Given the description of an element on the screen output the (x, y) to click on. 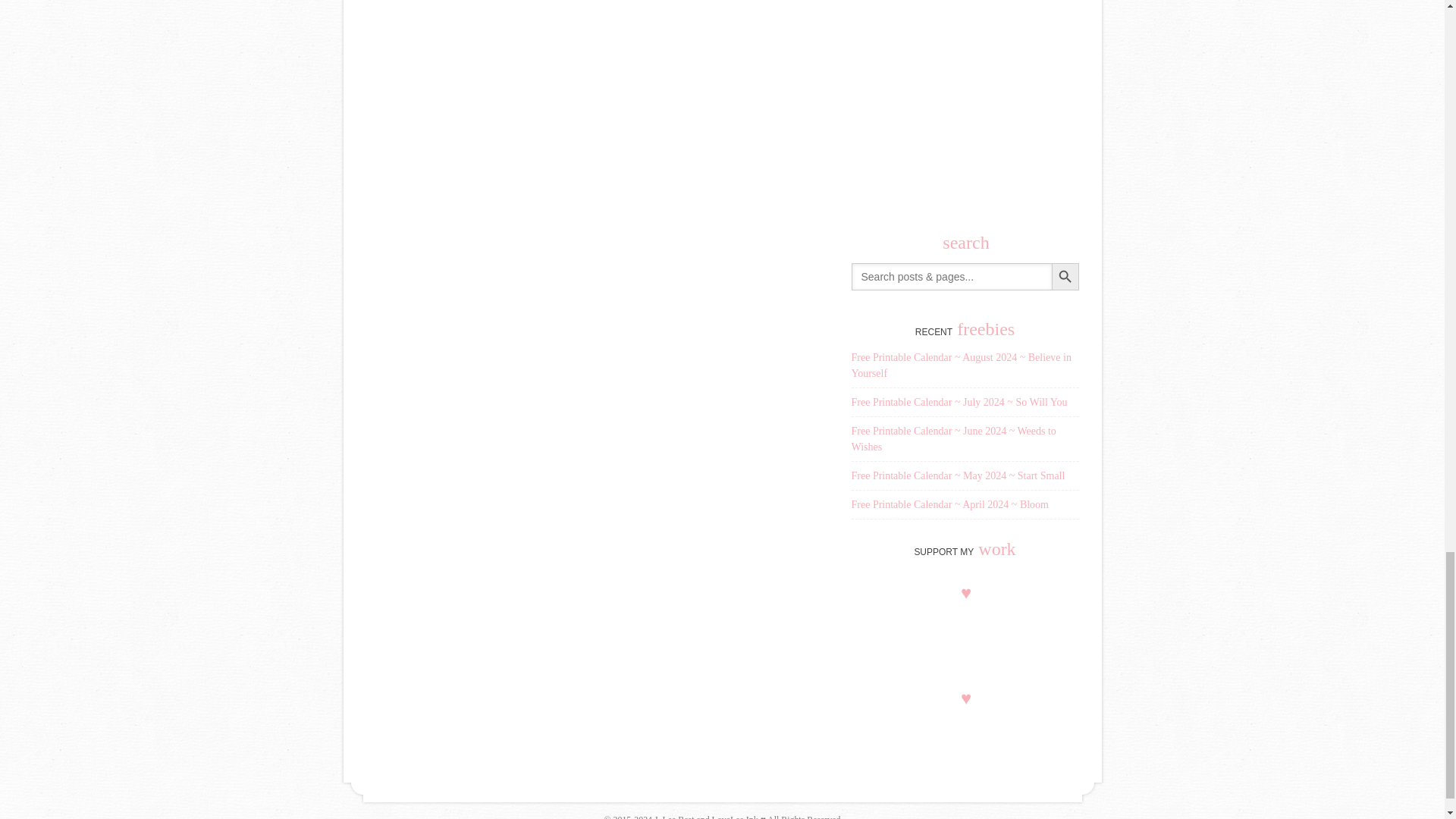
Search Button (1064, 276)
